Given the description of an element on the screen output the (x, y) to click on. 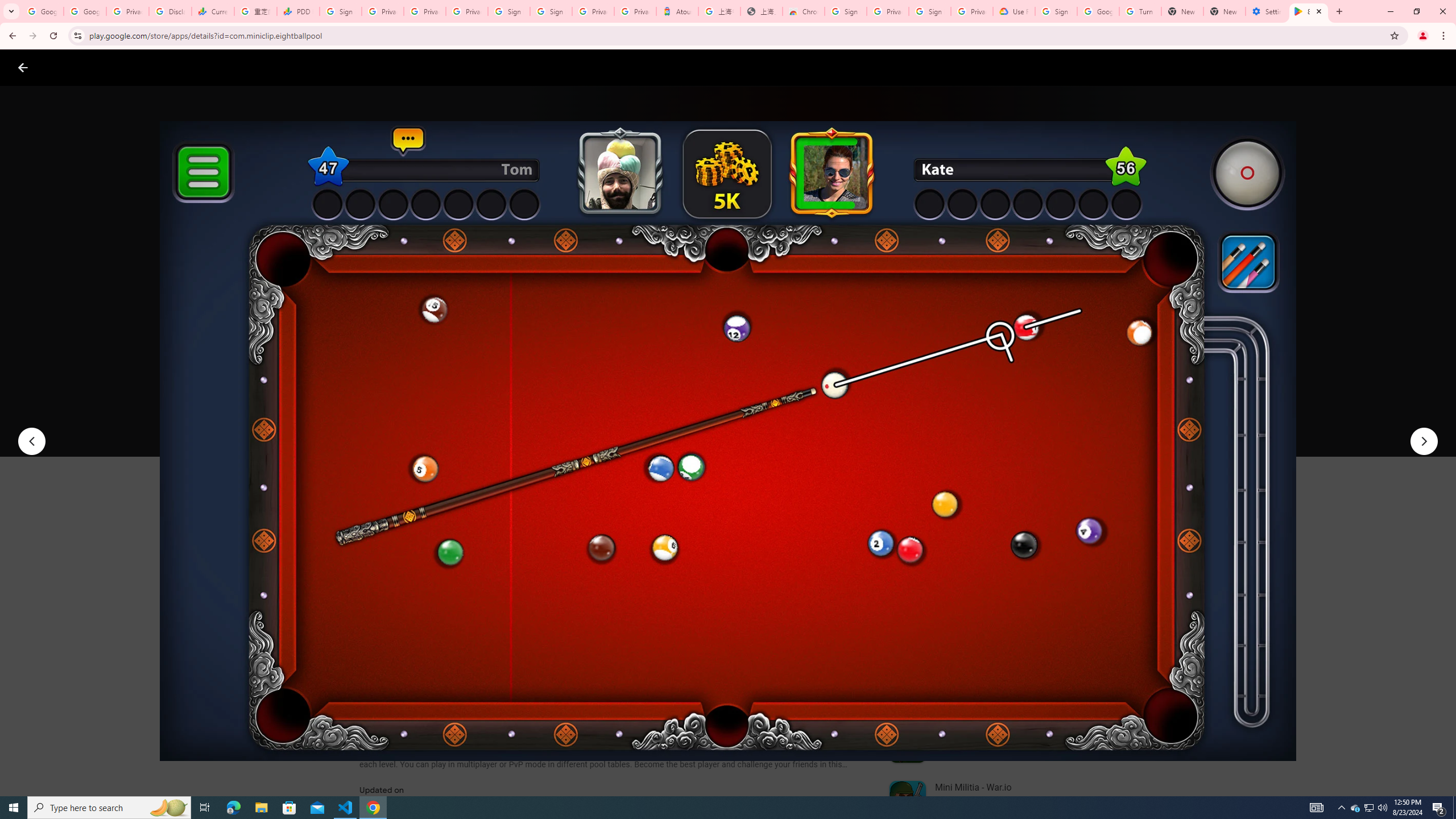
Install (416, 423)
Sign in - Google Accounts (845, 11)
Scroll Next (848, 563)
See more information on About this game (472, 681)
More info about this content rating (575, 385)
Sign in - Google Accounts (930, 11)
Google Workspace Admin Community (42, 11)
Play trailer (1062, 423)
Miniclip.com (386, 333)
Sign in - Google Accounts (509, 11)
PDD Holdings Inc - ADR (PDD) Price & News - Google Finance (298, 11)
